Given the description of an element on the screen output the (x, y) to click on. 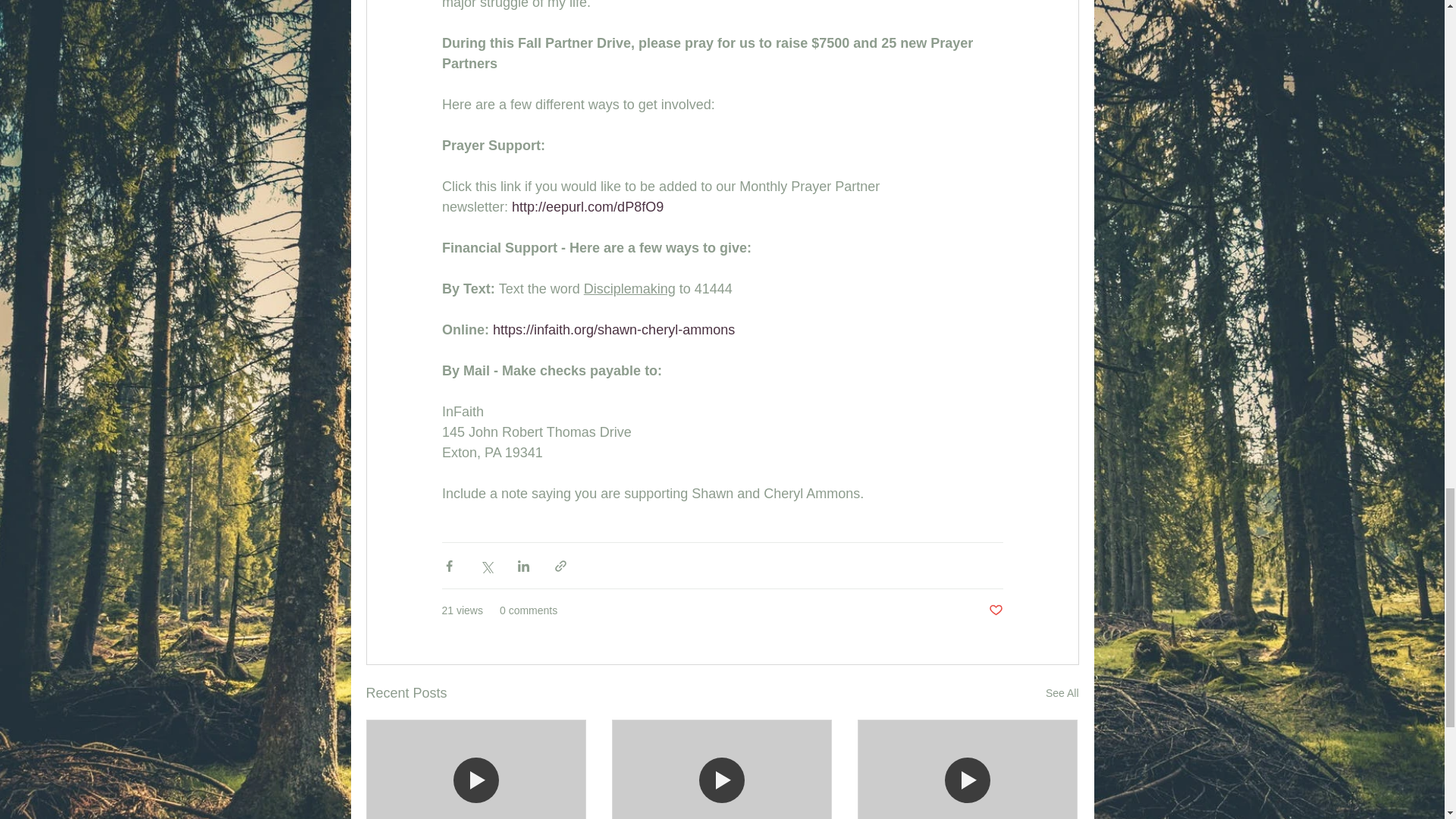
Post not marked as liked (995, 610)
See All (1061, 693)
